Given the description of an element on the screen output the (x, y) to click on. 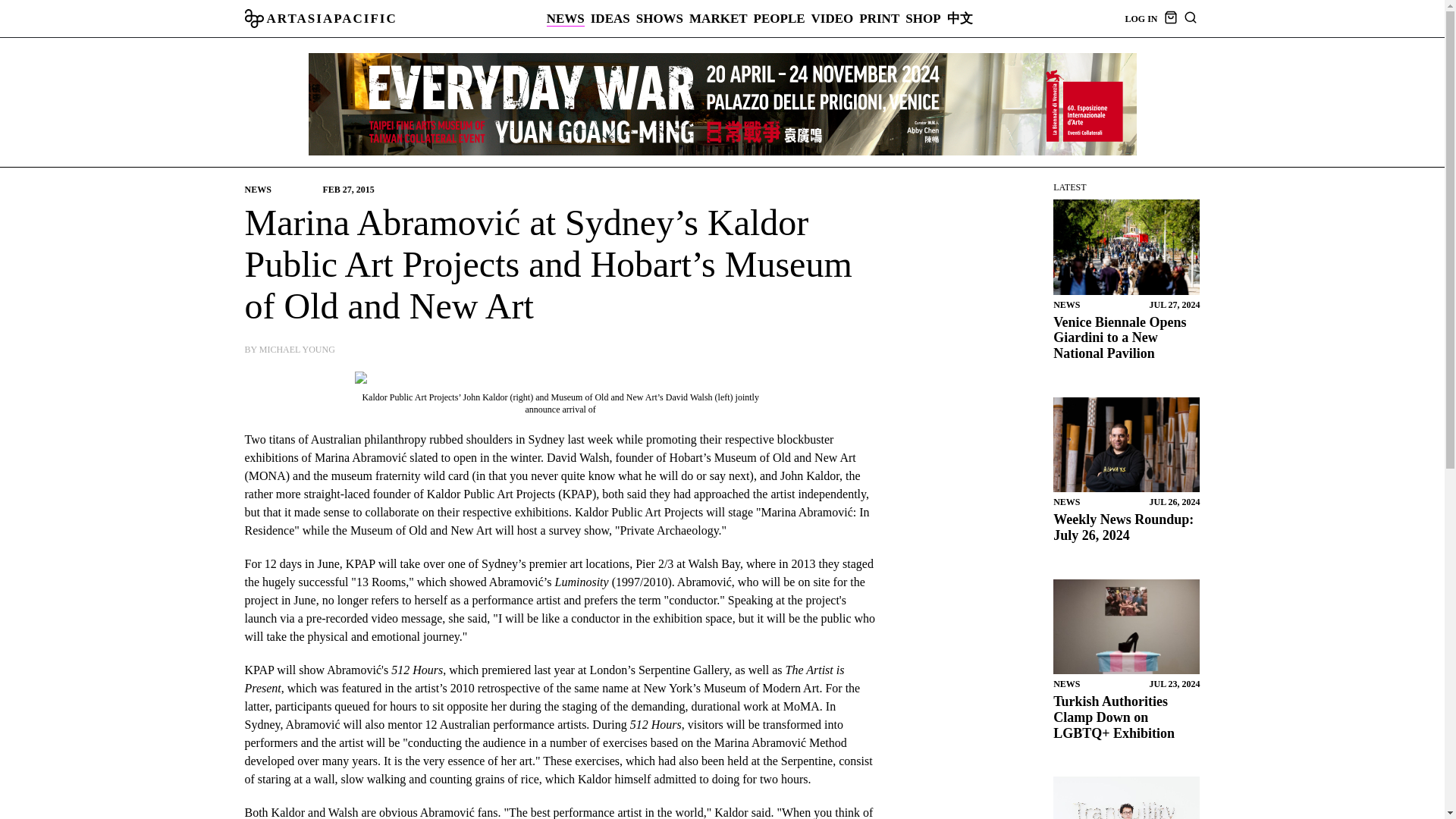
Weekly News Roundup: July 26, 2024 (1122, 526)
PEOPLE (779, 18)
SHOP (922, 18)
IDEAS (610, 18)
Weekly News Roundup: July 26, 2024 (1125, 445)
CART EMPTY (1169, 20)
Search (1269, 409)
Venice Biennale Opens Giardini to a New National Pavilion (1119, 337)
LOG IN (1140, 18)
PRINT (879, 18)
ARTASIAPACIFIC (320, 18)
MARKET (718, 18)
SHOWS (659, 18)
Venice Biennale Opens Giardini to a New National Pavilion (1125, 246)
NEWS (566, 18)
